Given the description of an element on the screen output the (x, y) to click on. 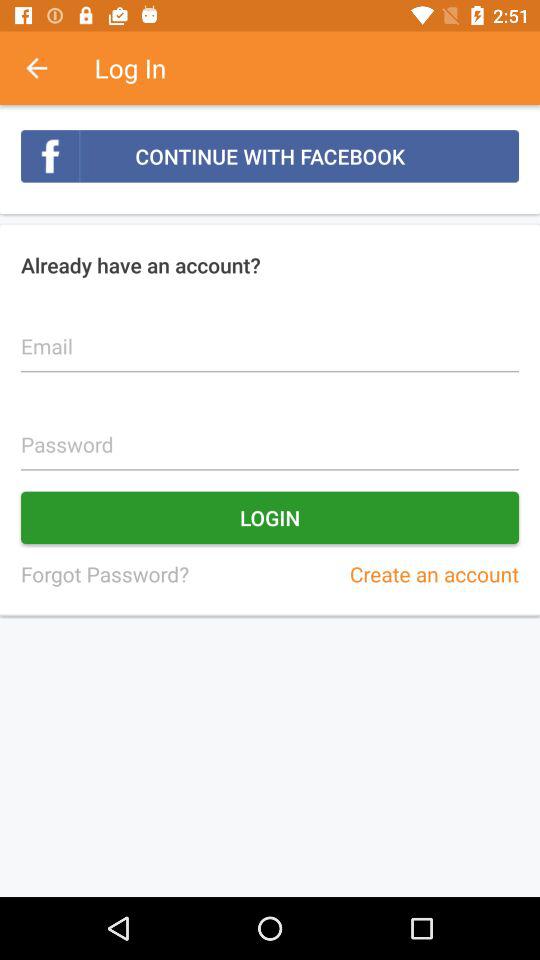
select icon below already have an (270, 335)
